Given the description of an element on the screen output the (x, y) to click on. 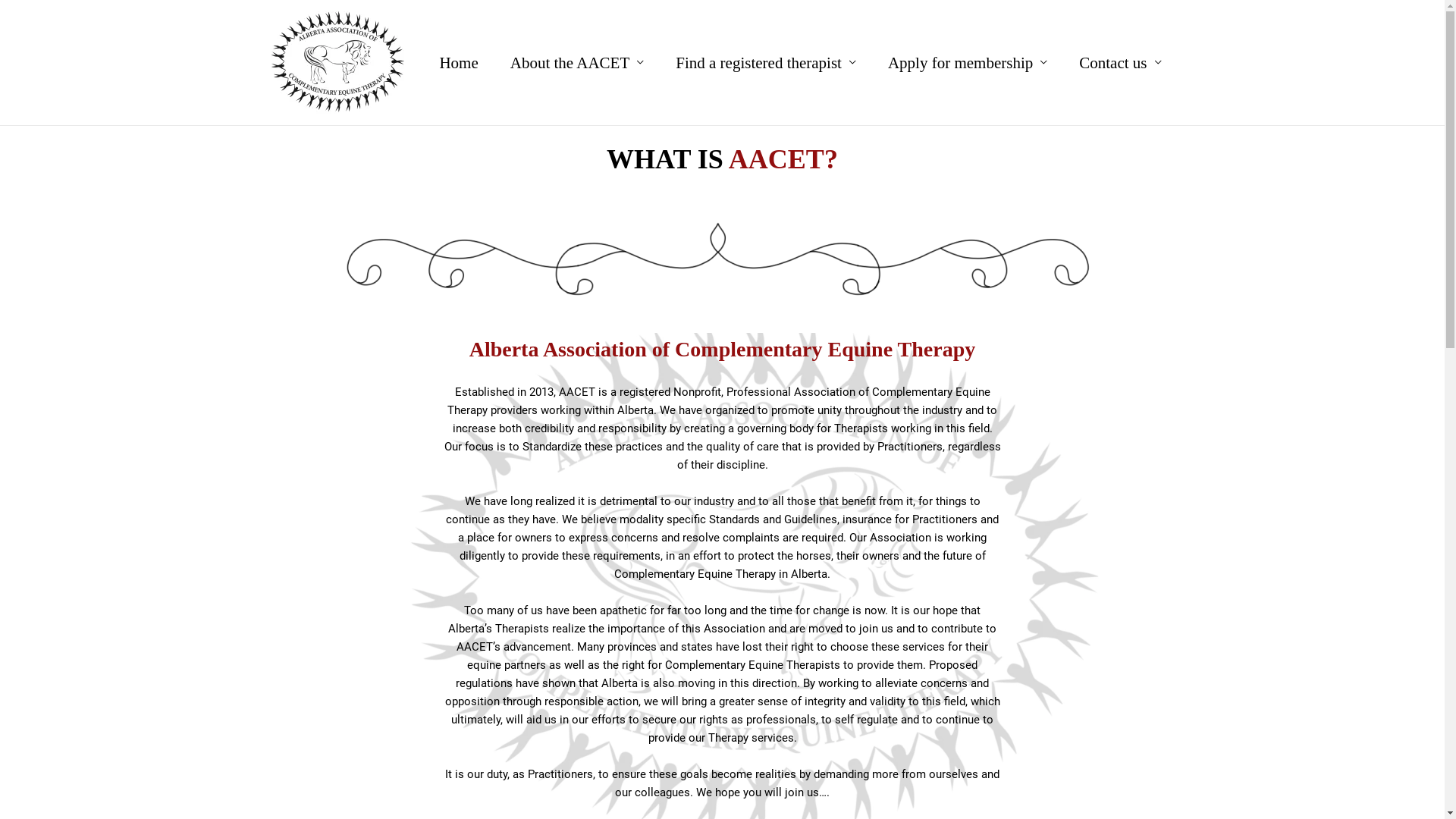
Home Element type: text (458, 62)
About the AACET Element type: text (577, 62)
Apply for membership Element type: text (967, 62)
Contact us Element type: text (1119, 62)
Find a registered therapist Element type: text (765, 62)
